Given the description of an element on the screen output the (x, y) to click on. 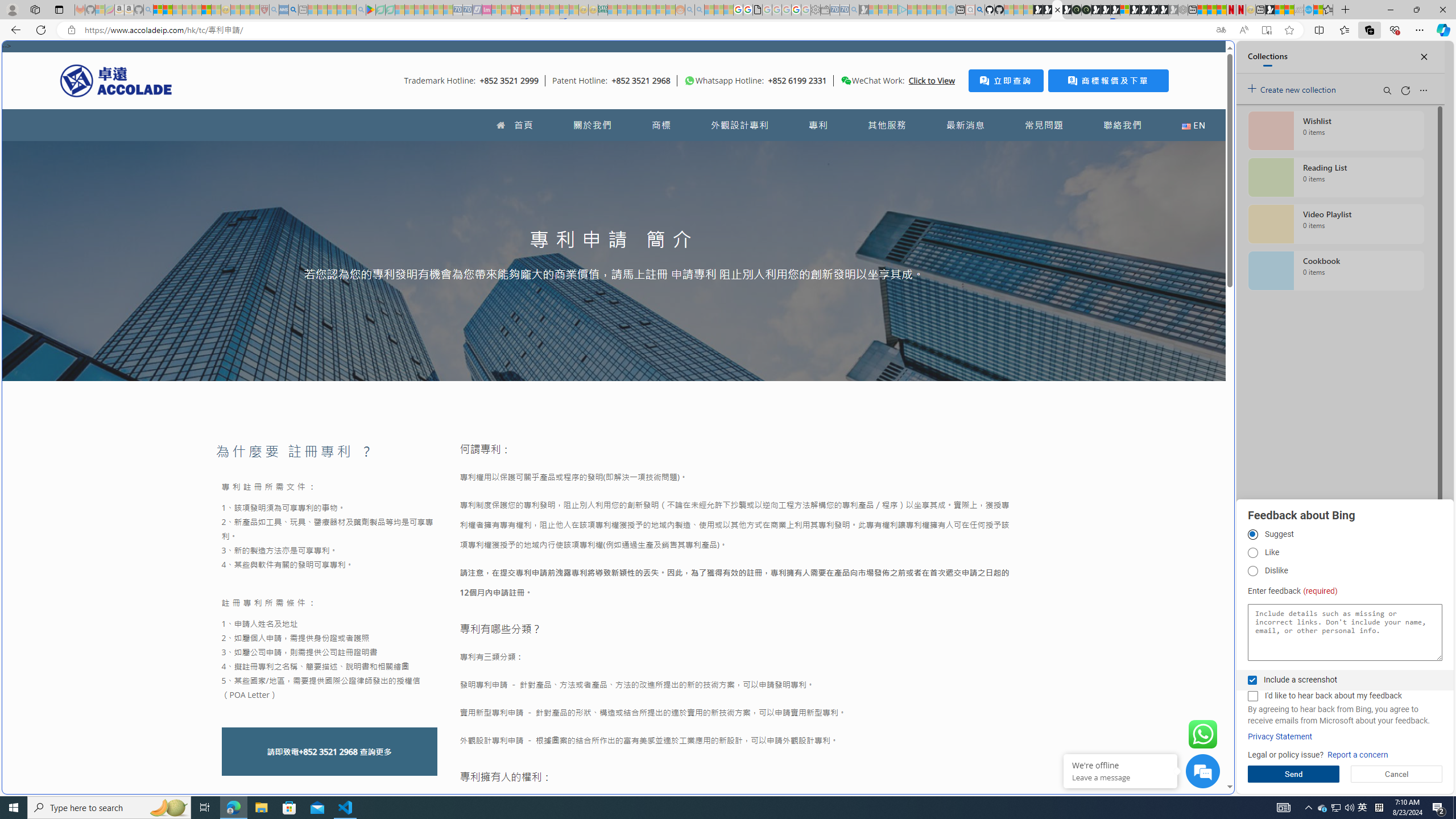
Frequently visited (965, 151)
Send (1293, 773)
Class: desktop (845, 80)
